Given the description of an element on the screen output the (x, y) to click on. 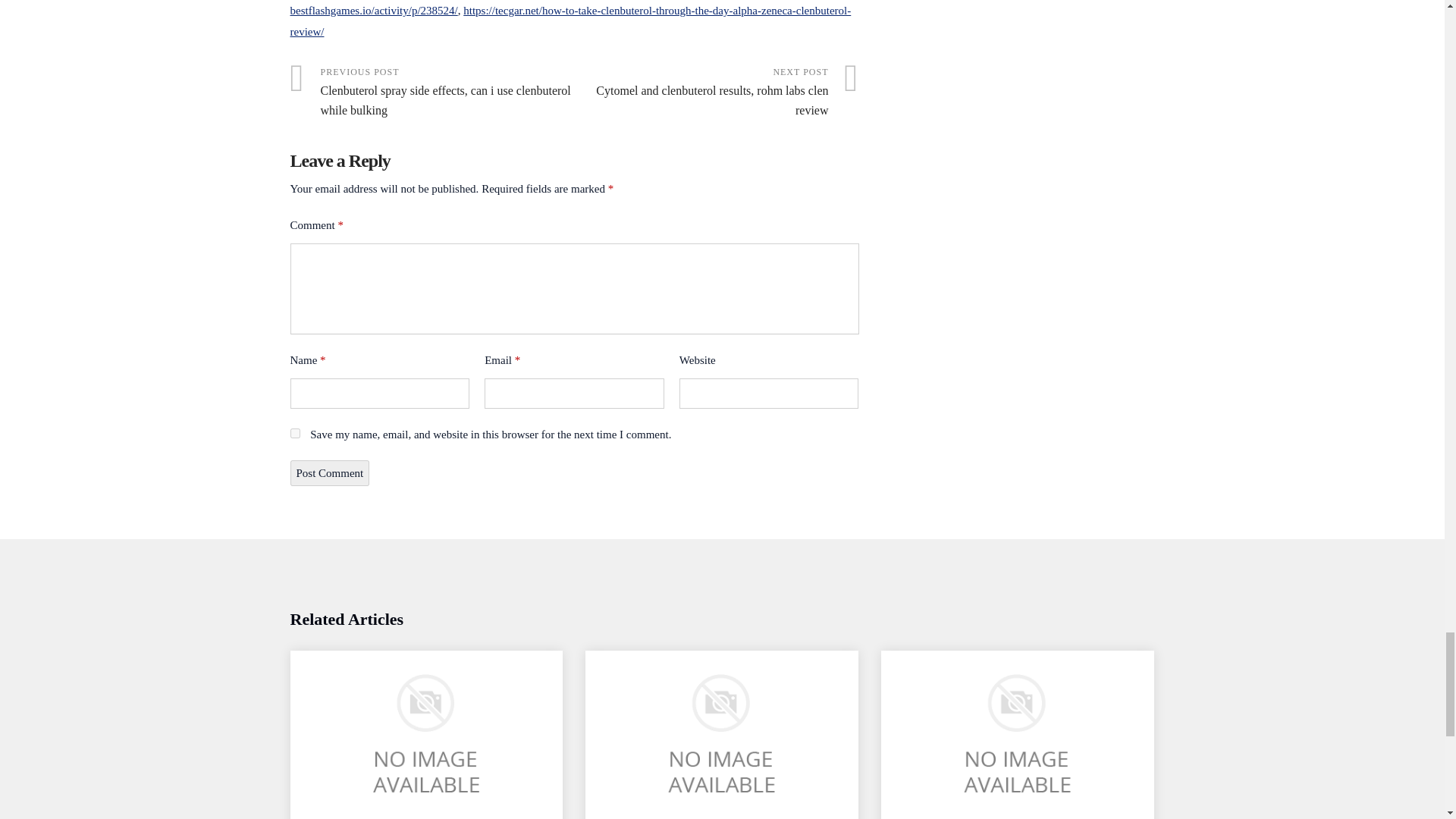
Post Comment (329, 473)
yes (294, 433)
Cytomel and clenbuterol results, rohm labs clen review (717, 92)
Post Comment (329, 473)
